Given the description of an element on the screen output the (x, y) to click on. 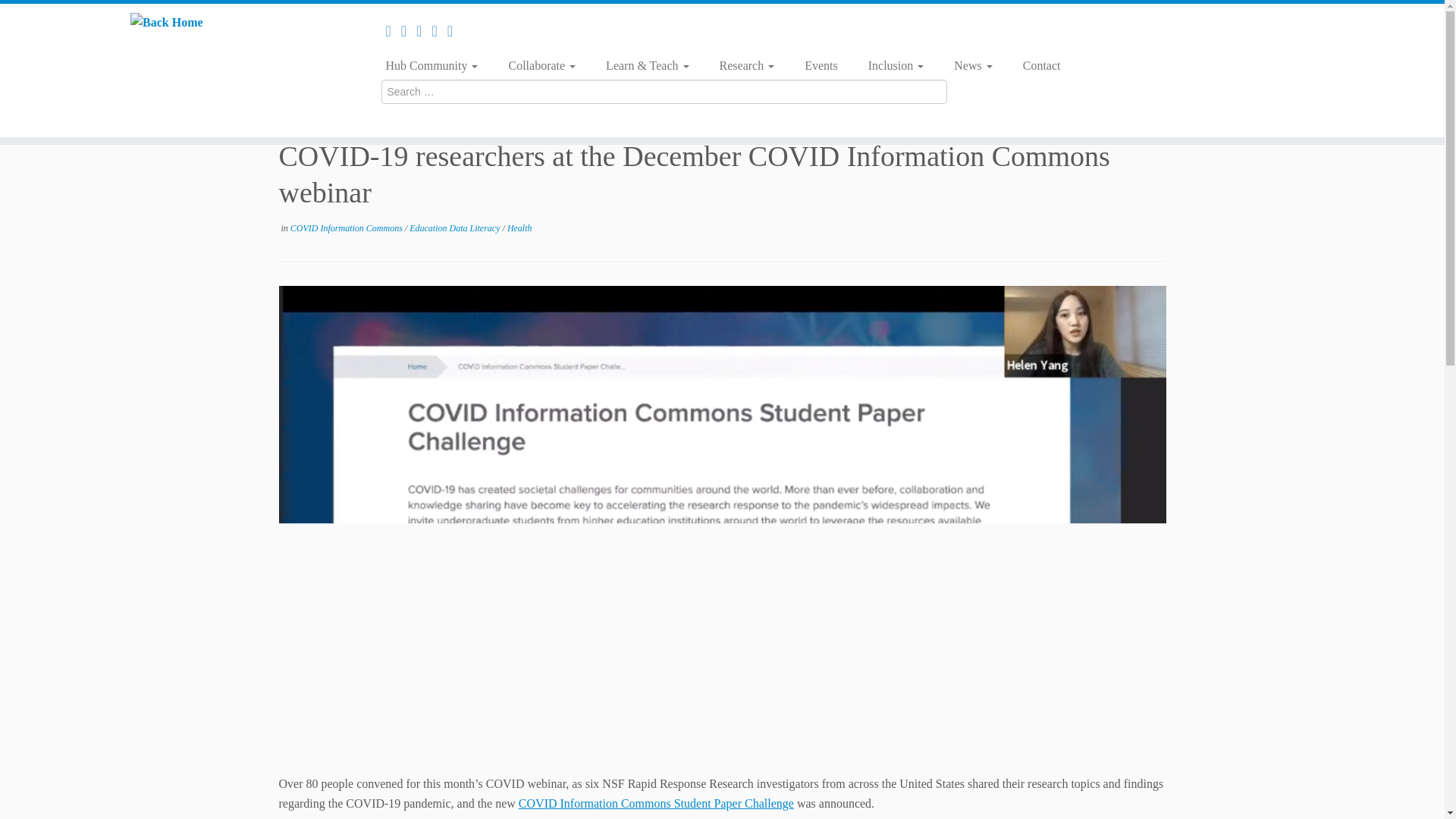
Research (747, 65)
View all posts in Education Data Literacy (455, 227)
Hub Community (437, 65)
Follow the NEBDHub on Youtube (438, 30)
View all posts in Health (519, 227)
Follow the NEBDHub on Instagram (454, 30)
Follow the NEBDHub on Twitter (408, 30)
Email the NEBDHub (392, 30)
View all posts in COVID Information Commons (346, 227)
Collaborate (542, 65)
